Given the description of an element on the screen output the (x, y) to click on. 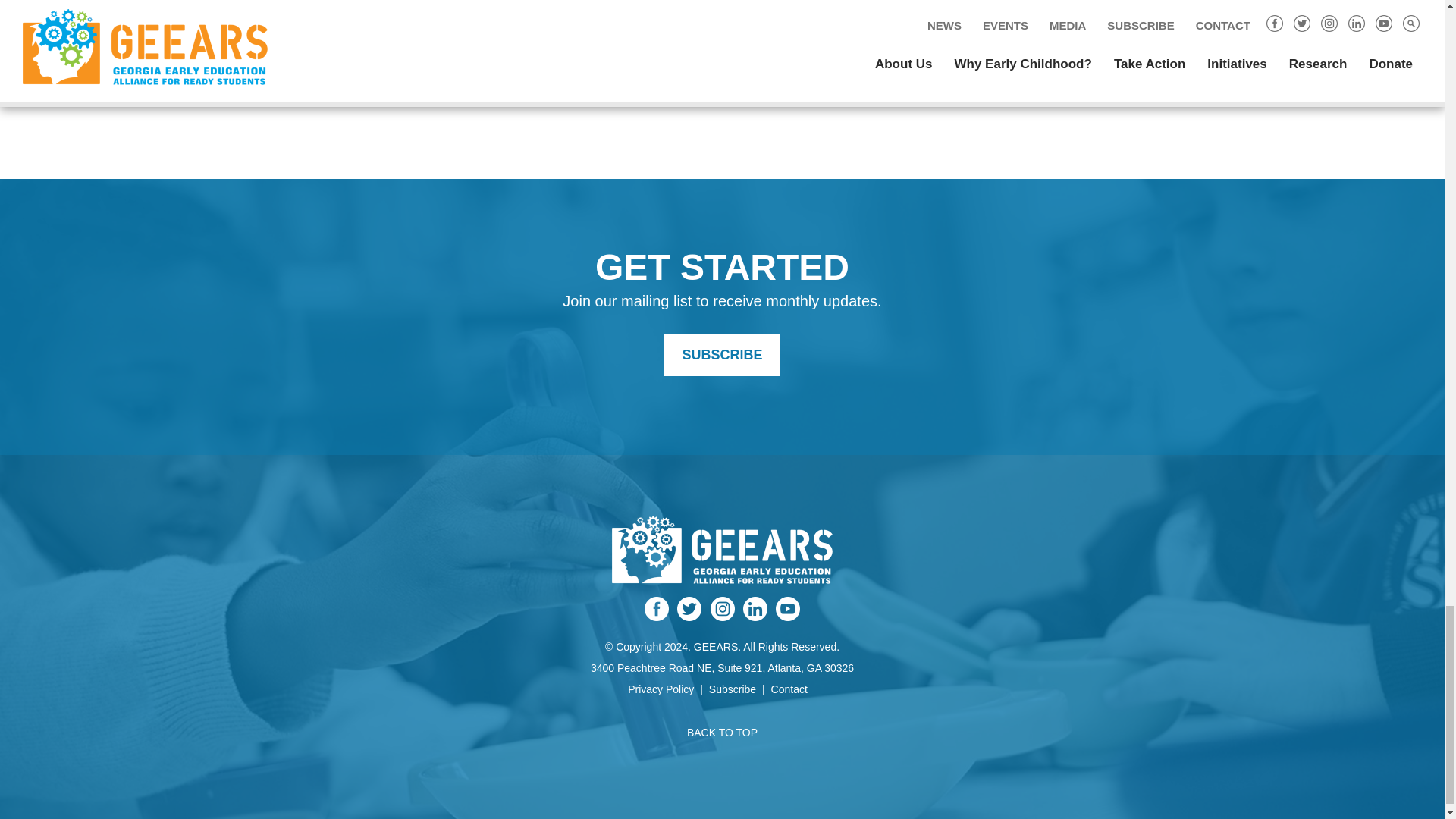
GEEARS (721, 571)
Subscribe (721, 354)
